Given the description of an element on the screen output the (x, y) to click on. 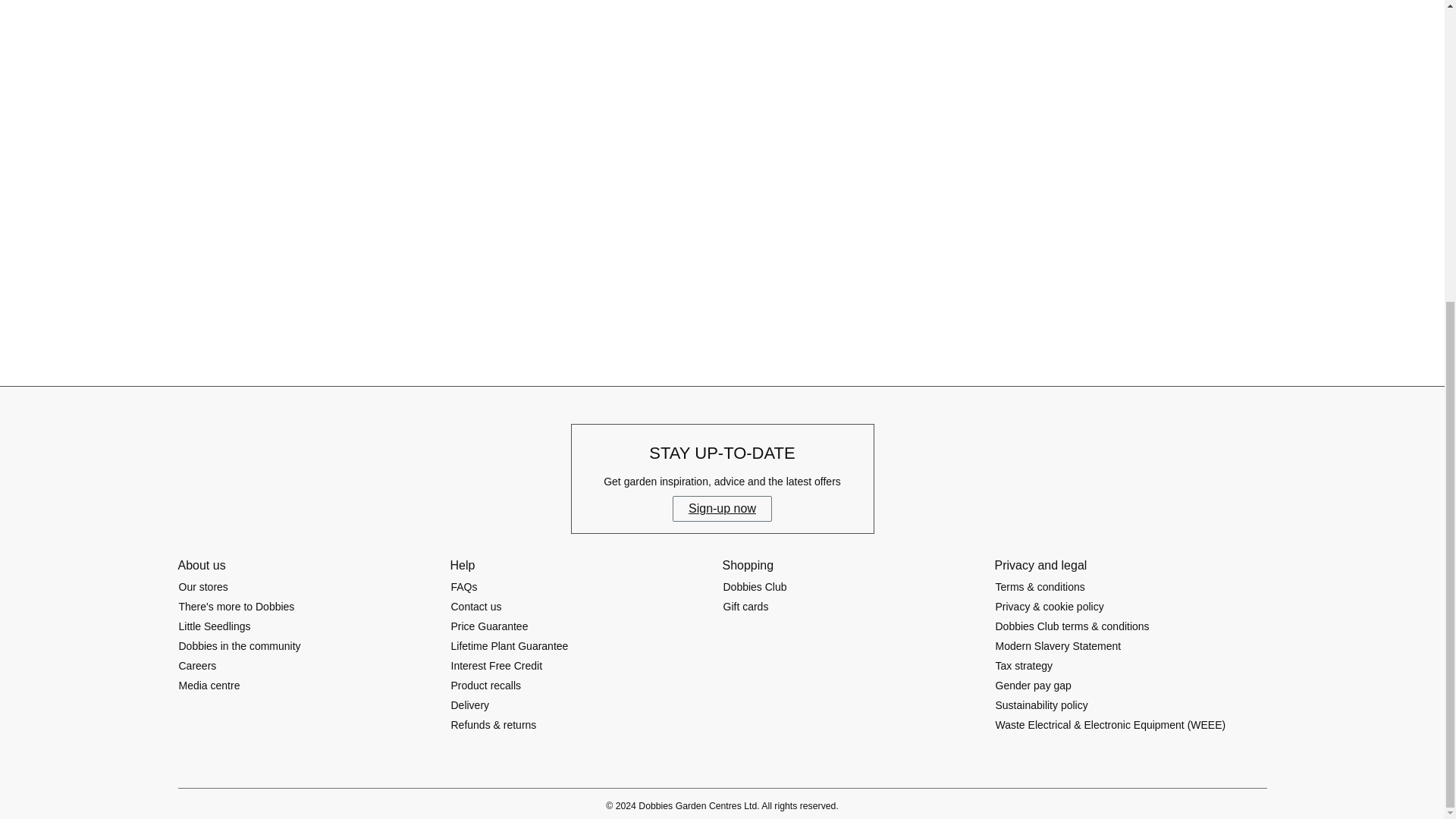
Interest Free Credit (496, 665)
FAQs (464, 586)
There's more to Dobbies (236, 606)
Lifetime Plant Guarantee (509, 645)
Price Guarantee (489, 626)
Media centre (208, 685)
Careers (196, 665)
Our stores (202, 586)
Product recalls (485, 685)
Little Seedlings (213, 626)
Contact us (475, 606)
Sign-up now (721, 508)
Dobbies in the community (239, 645)
Delivery (469, 704)
